Given the description of an element on the screen output the (x, y) to click on. 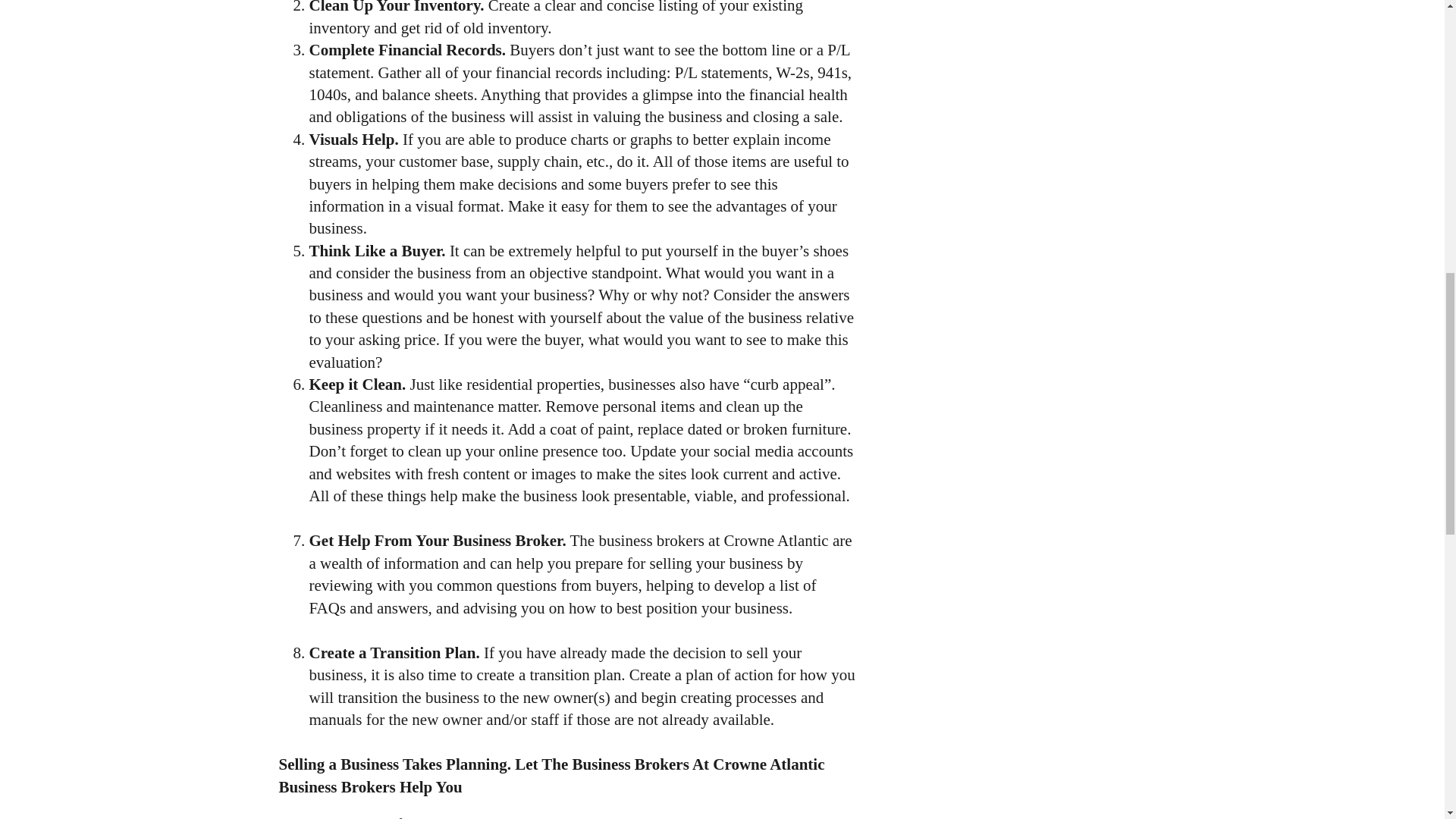
Selling a business (336, 816)
